Given the description of an element on the screen output the (x, y) to click on. 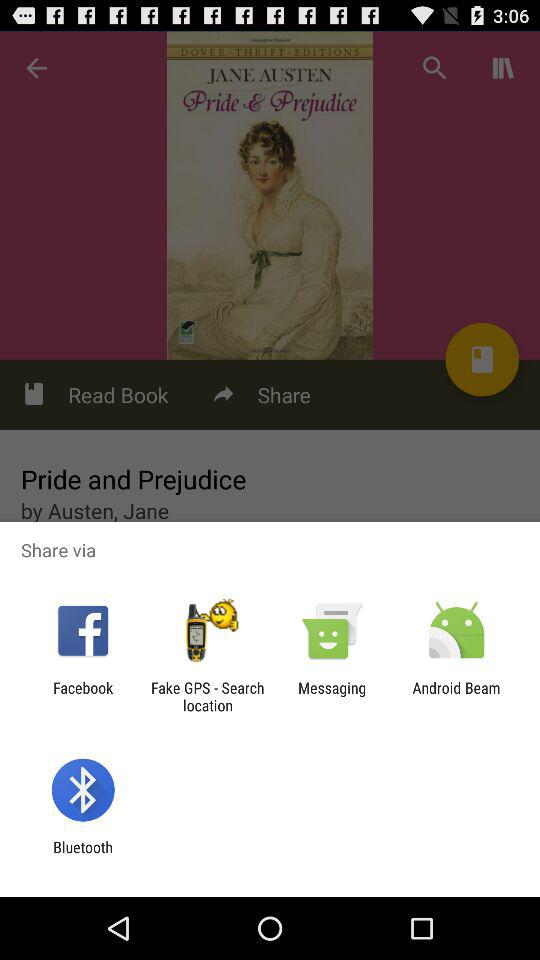
scroll to the fake gps search app (207, 696)
